Given the description of an element on the screen output the (x, y) to click on. 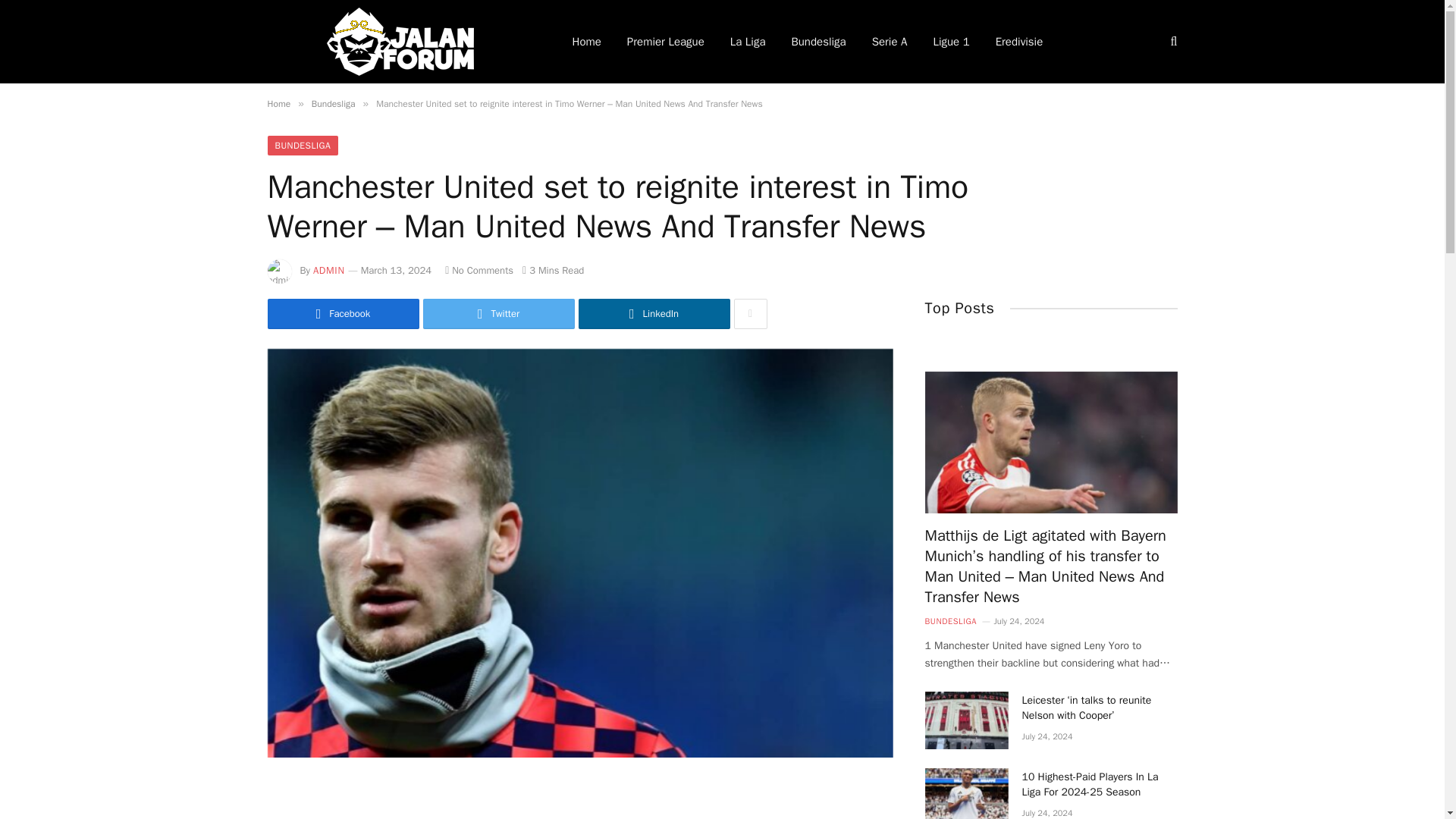
Premier League (665, 41)
Bundesliga (333, 103)
LinkedIn (653, 313)
Home (277, 103)
ADMIN (329, 269)
Share on Facebook (342, 313)
Bundesliga (818, 41)
BUNDESLIGA (301, 145)
Share on LinkedIn (653, 313)
Twitter (499, 313)
Facebook (342, 313)
No Comments (479, 269)
Jalanforum News (399, 41)
Posts by admin (329, 269)
Share on Twitter (499, 313)
